Given the description of an element on the screen output the (x, y) to click on. 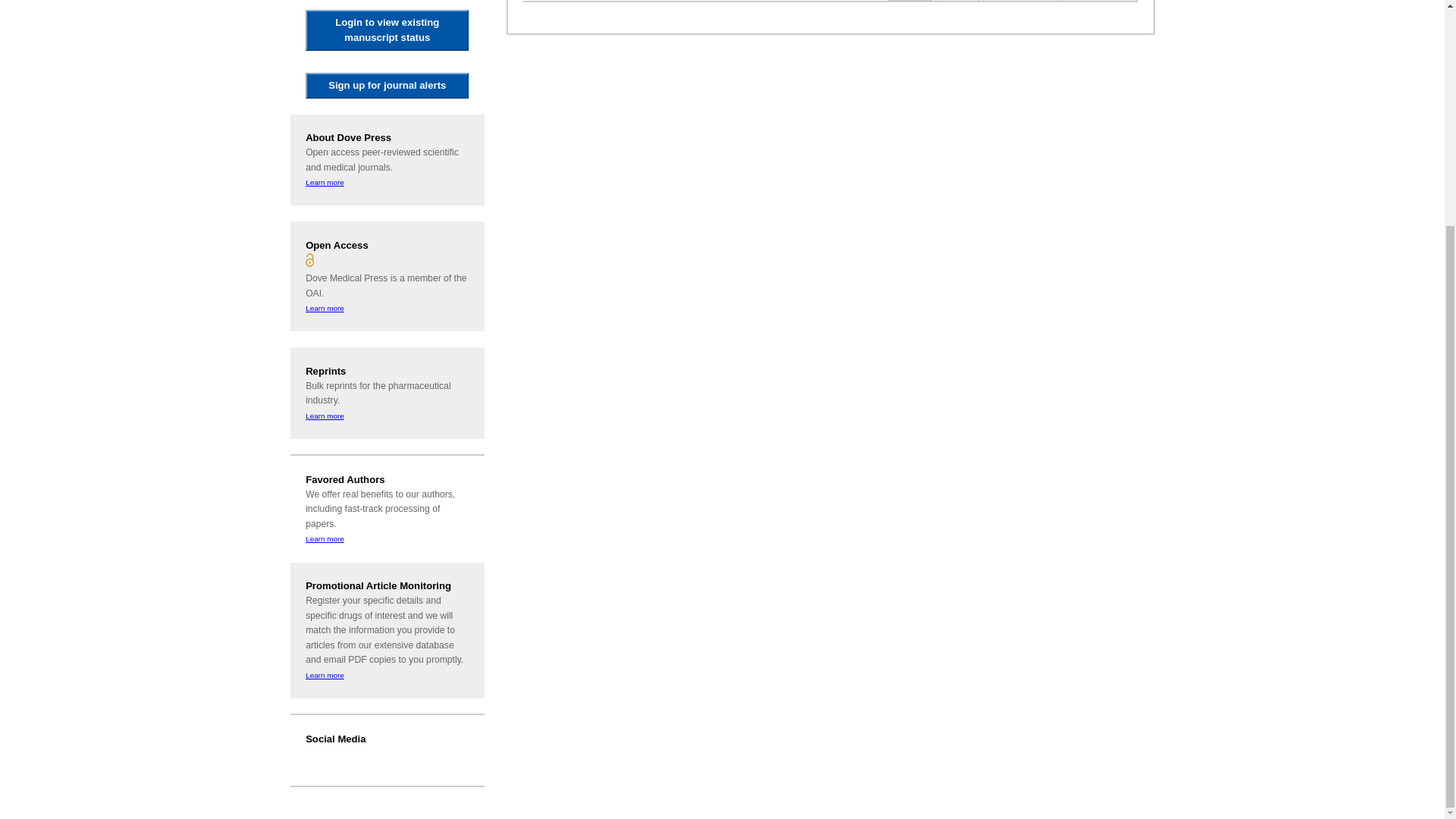
Sign up for journal alerts (386, 85)
Machine readable (910, 0)
Login to view existing manuscript status (386, 29)
Learn more (324, 182)
